Given the description of an element on the screen output the (x, y) to click on. 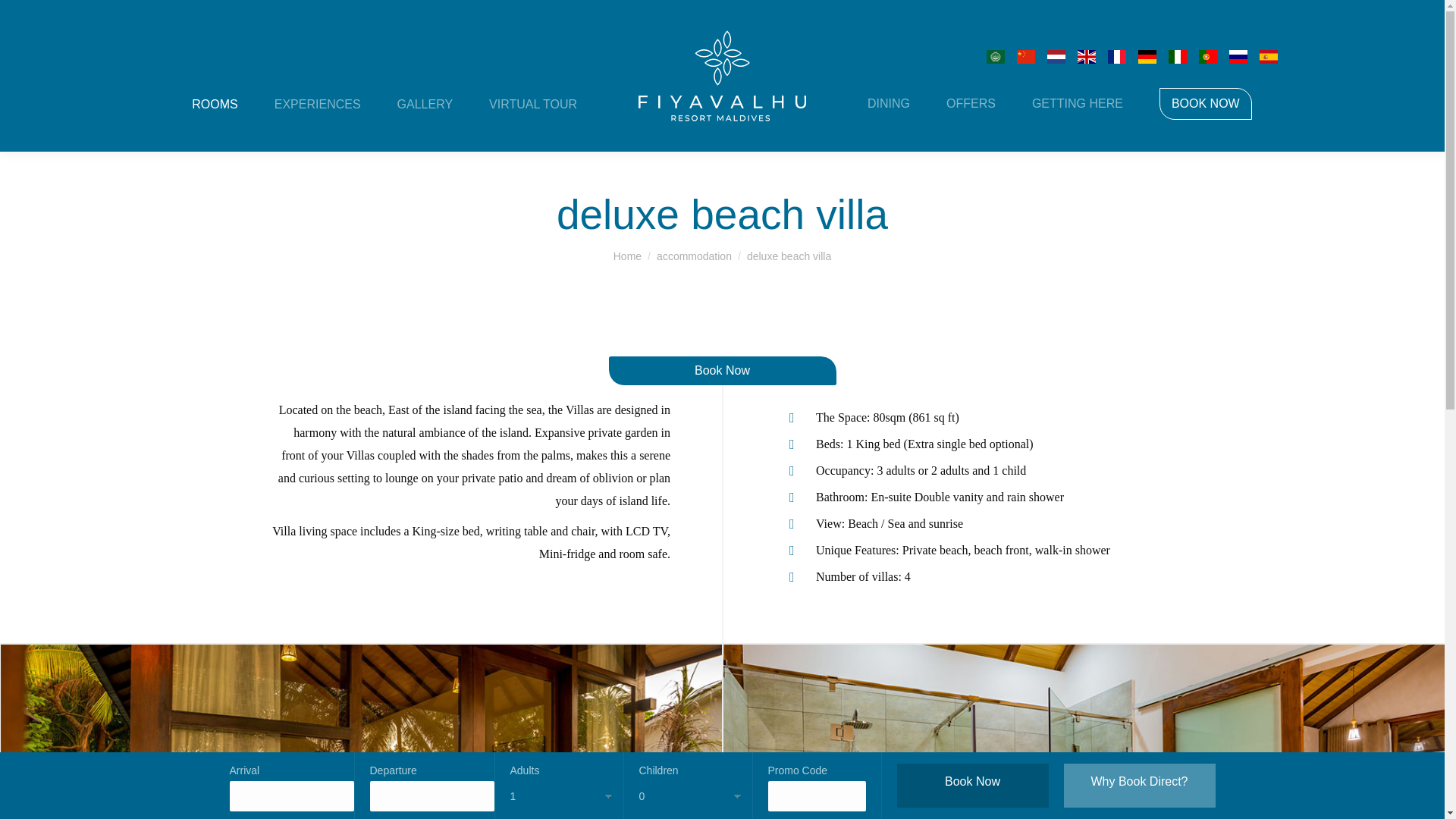
VIRTUAL TOUR (532, 103)
EXPERIENCES (317, 103)
Why Book Direct? (1138, 785)
Russian (1237, 56)
French (1116, 56)
DINING (888, 103)
OFFERS (970, 103)
German (1147, 56)
Portuguese (1207, 56)
Dutch (1055, 56)
Arabic (995, 56)
GETTING HERE (1077, 103)
BOOK NOW (1205, 103)
English (1086, 56)
Italian (1177, 56)
